Given the description of an element on the screen output the (x, y) to click on. 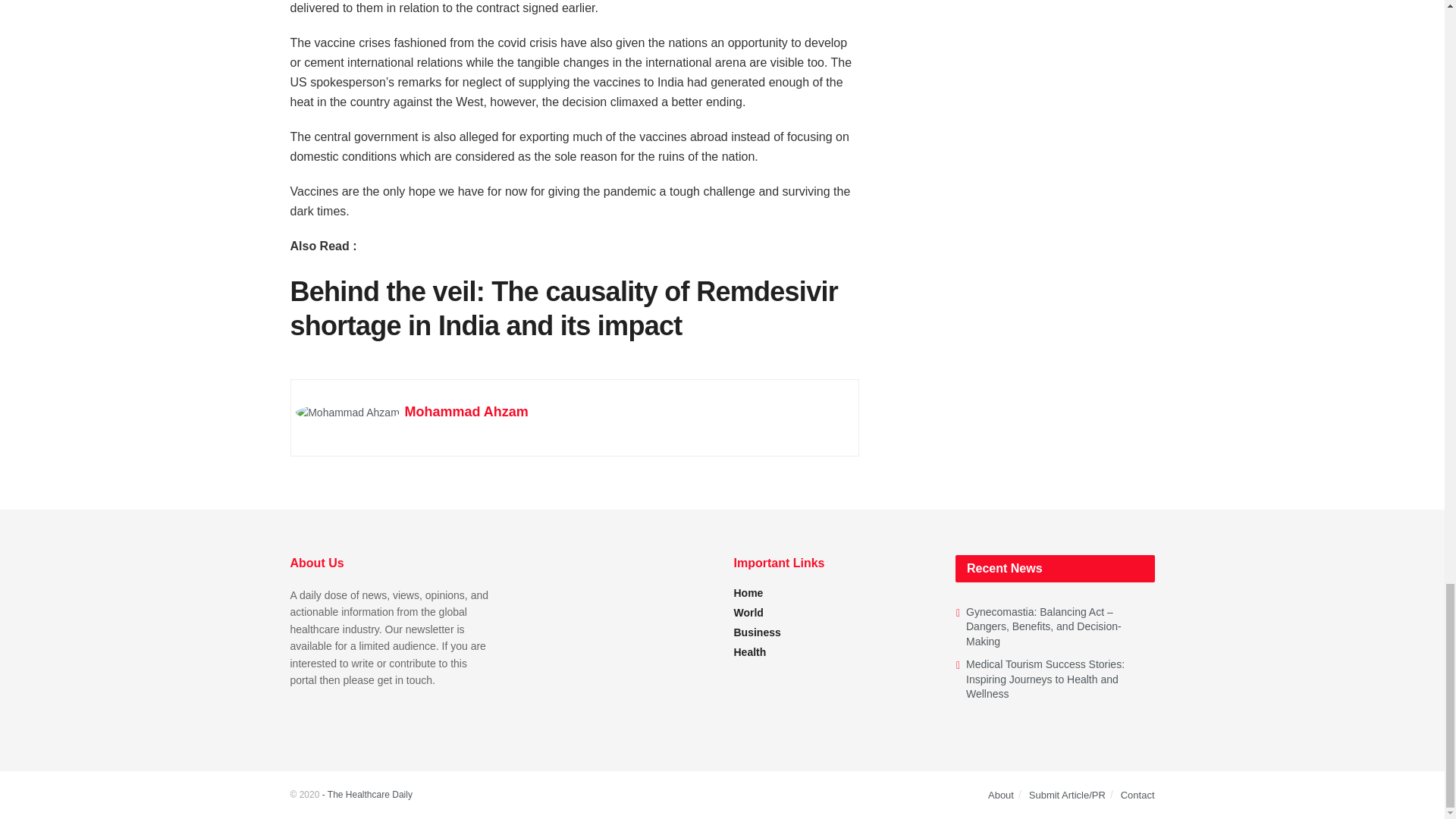
THP (366, 794)
